Given the description of an element on the screen output the (x, y) to click on. 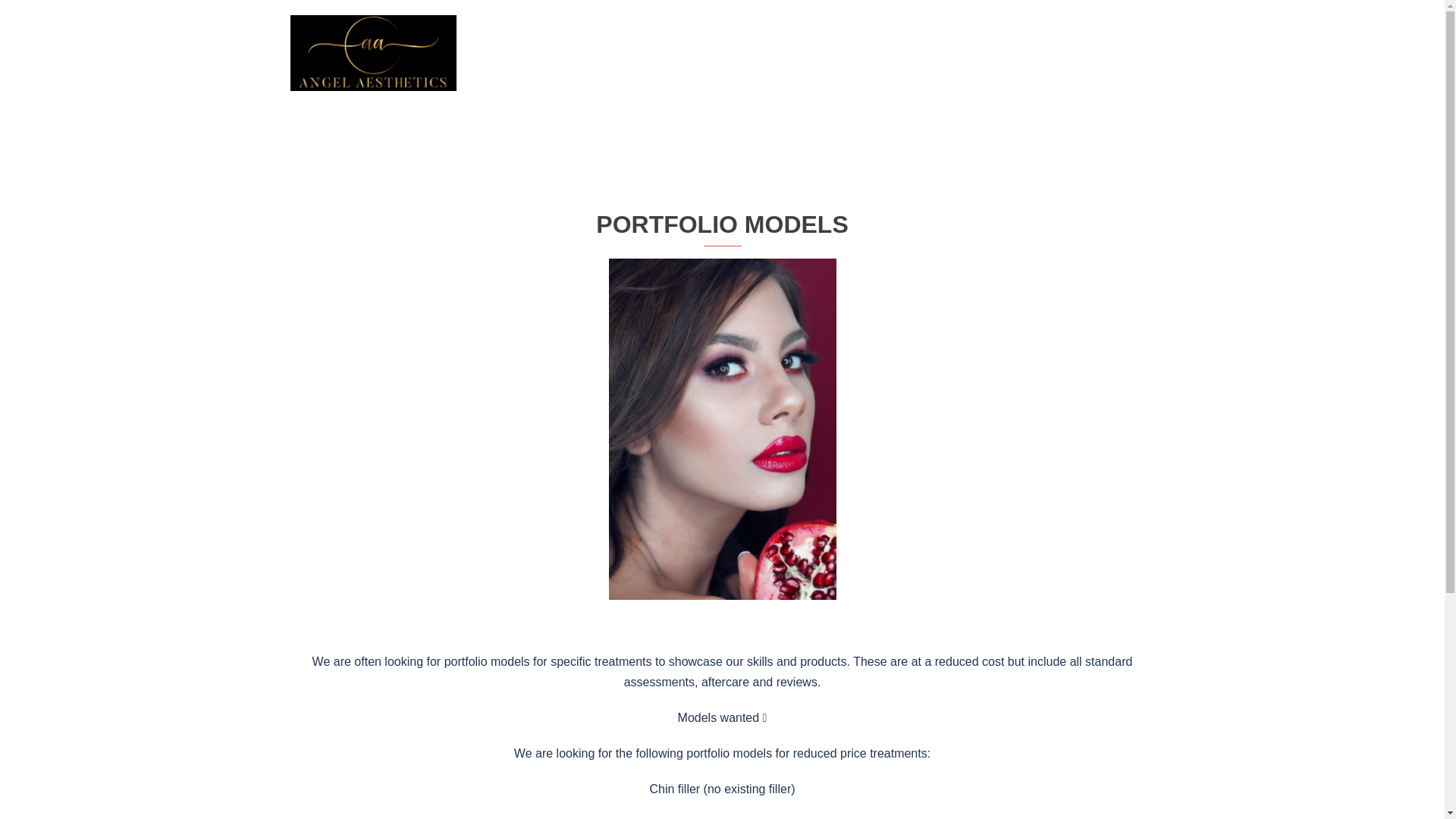
Angel Aesthetics (372, 51)
Testimonials (892, 53)
Our Services (694, 53)
Blog (953, 53)
Awards (1052, 53)
Contact Us (1116, 53)
About (999, 53)
Home (628, 53)
